Given the description of an element on the screen output the (x, y) to click on. 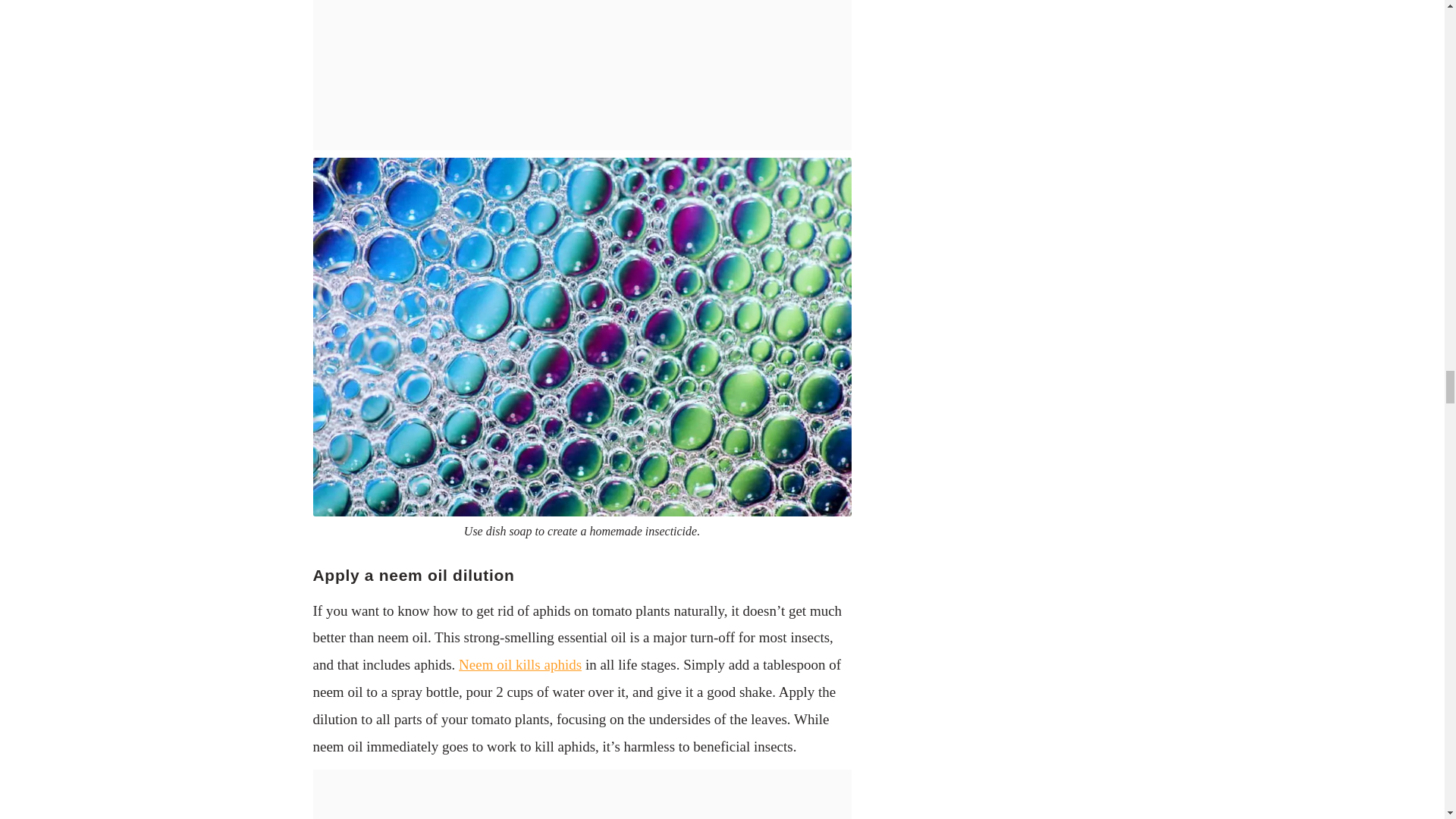
Neem oil kills aphids (519, 664)
